Given the description of an element on the screen output the (x, y) to click on. 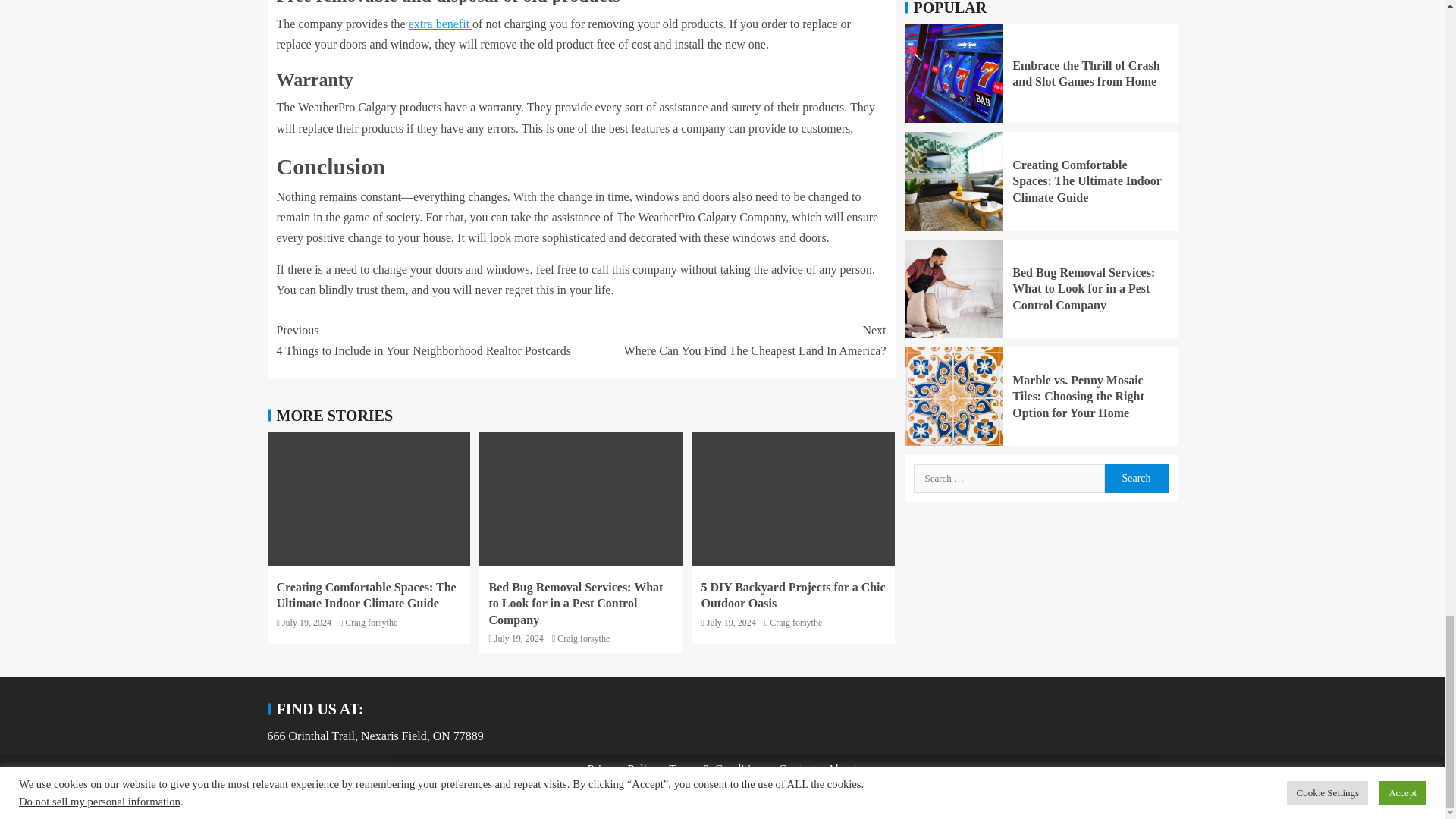
extra benefit (440, 23)
Craig forsythe (371, 622)
